Given the description of an element on the screen output the (x, y) to click on. 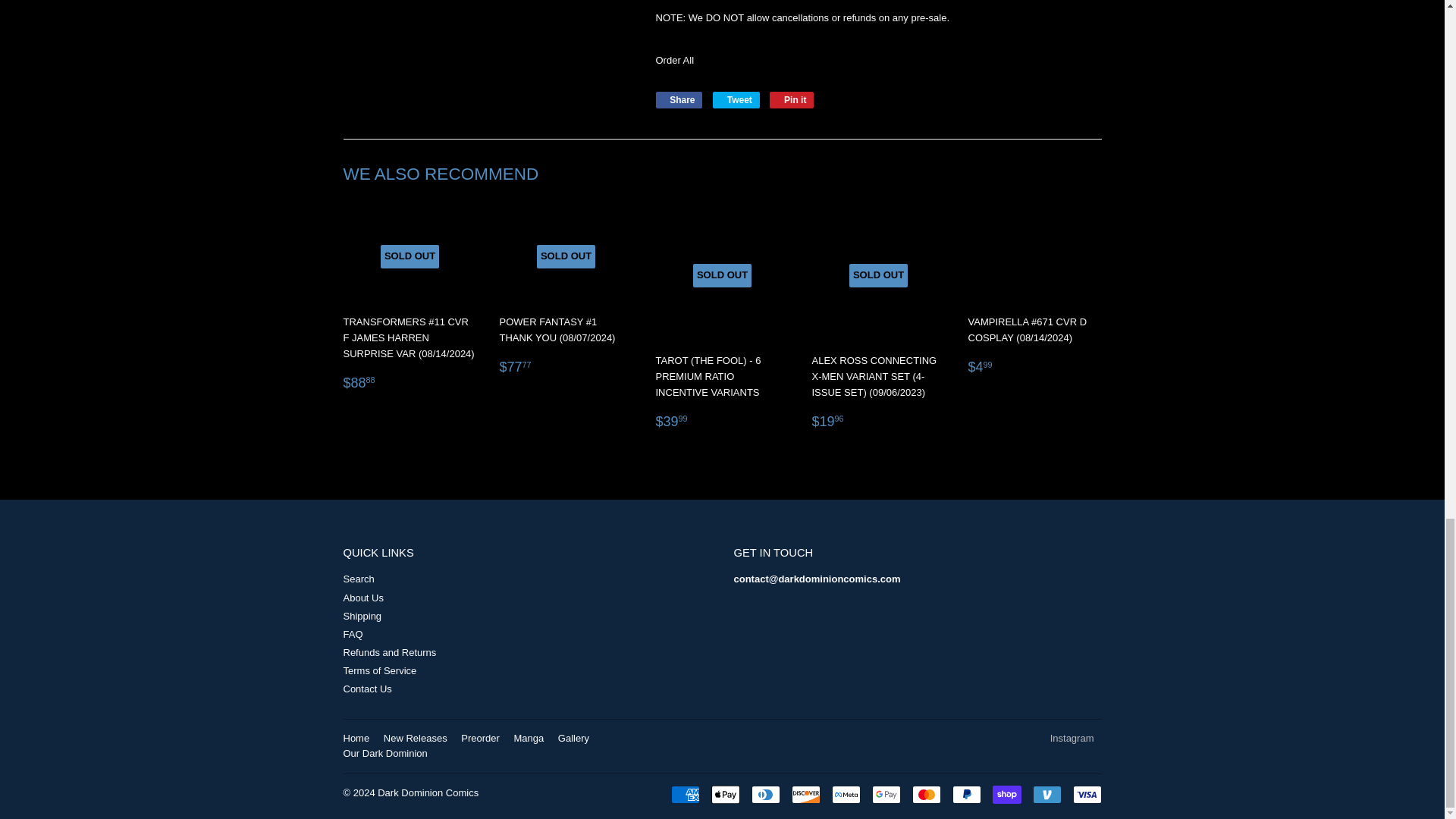
Apple Pay (725, 794)
Visa (1085, 794)
Dark Dominion Comics on Instagram (1071, 737)
Pin on Pinterest (791, 99)
Google Pay (886, 794)
Meta Pay (845, 794)
Tweet on Twitter (736, 99)
American Express (683, 794)
PayPal (966, 794)
Diners Club (764, 794)
